Given the description of an element on the screen output the (x, y) to click on. 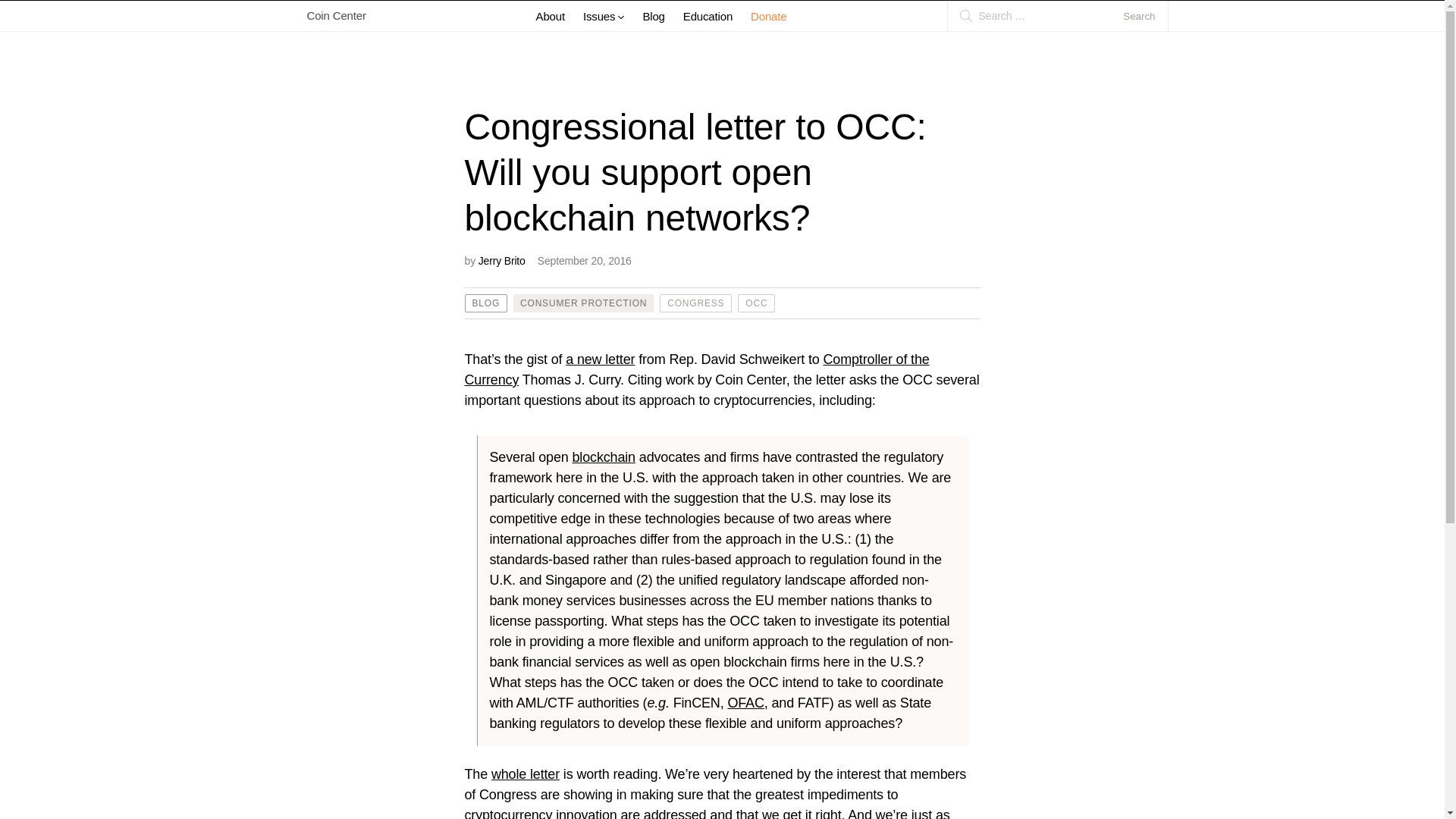
Search (1144, 15)
OFAC (744, 702)
Education (707, 16)
Donate (768, 16)
Jerry Brito (502, 261)
CONGRESS (694, 303)
Issues (603, 16)
CONSUMER PROTECTION (582, 303)
blockchain (603, 457)
OCC (756, 303)
Search (1144, 15)
Search (1144, 15)
a new letter (600, 359)
Coin Center (329, 15)
Comptroller of the Currency (696, 369)
